Given the description of an element on the screen output the (x, y) to click on. 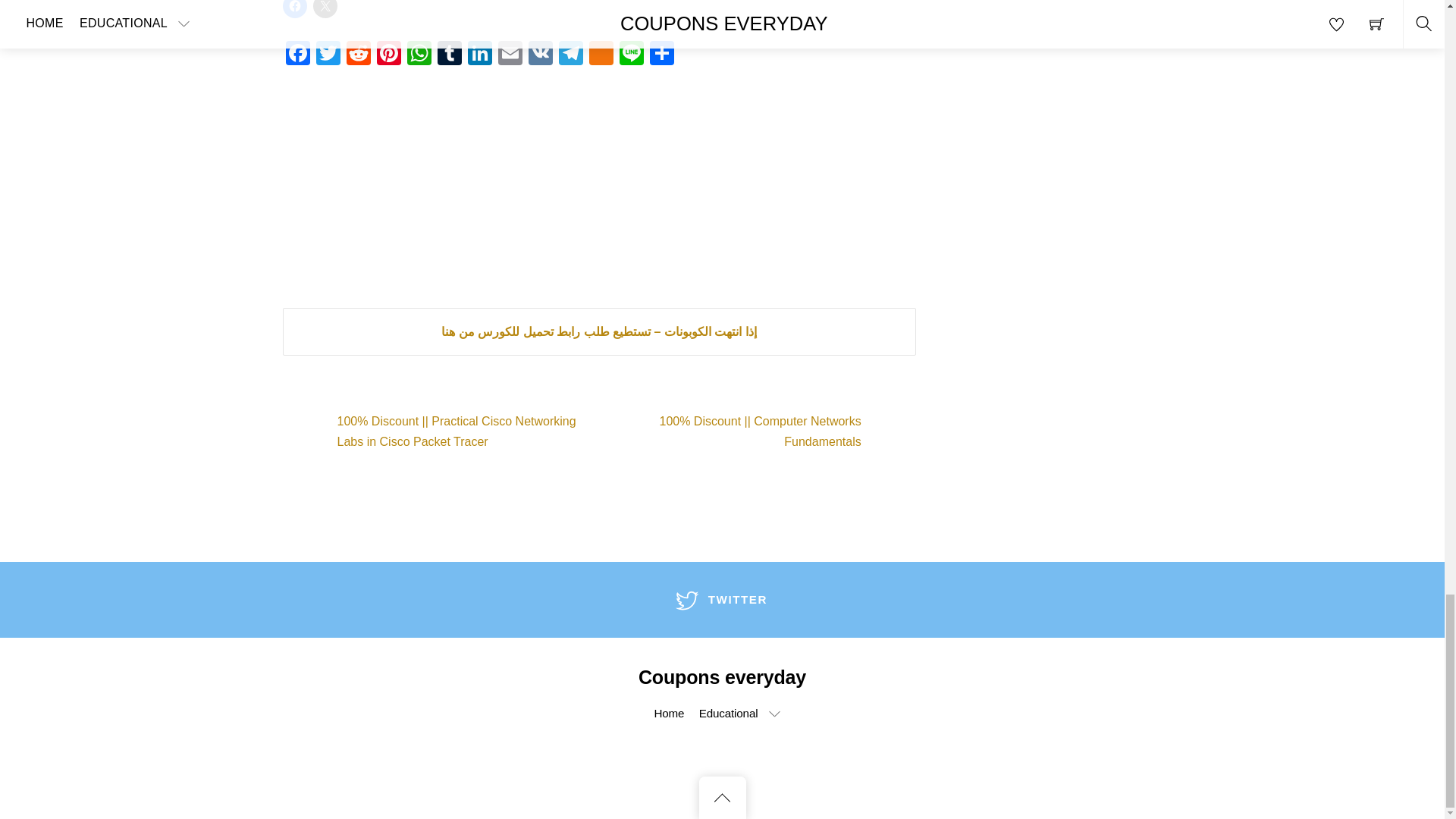
VK (539, 54)
Telegram (569, 54)
Twitter (327, 54)
Tumblr (448, 54)
Facebook (297, 54)
VK (539, 54)
Email (509, 54)
Pinterest (387, 54)
Share (661, 54)
Reddit (357, 54)
Reddit (357, 54)
Twitter (327, 54)
WhatsApp (418, 54)
Line (630, 54)
LinkedIn (479, 54)
